Given the description of an element on the screen output the (x, y) to click on. 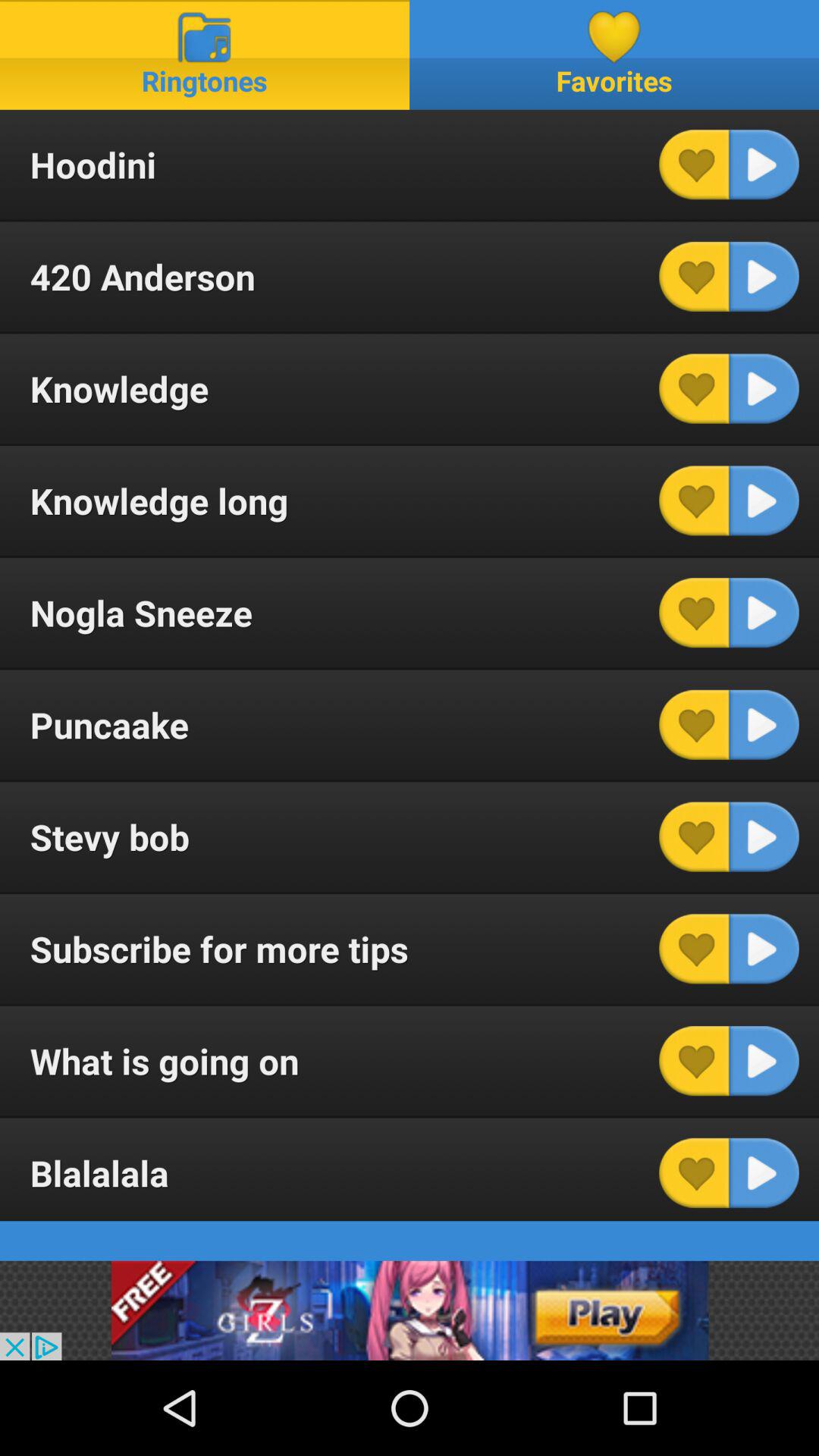
play this track (764, 276)
